Given the description of an element on the screen output the (x, y) to click on. 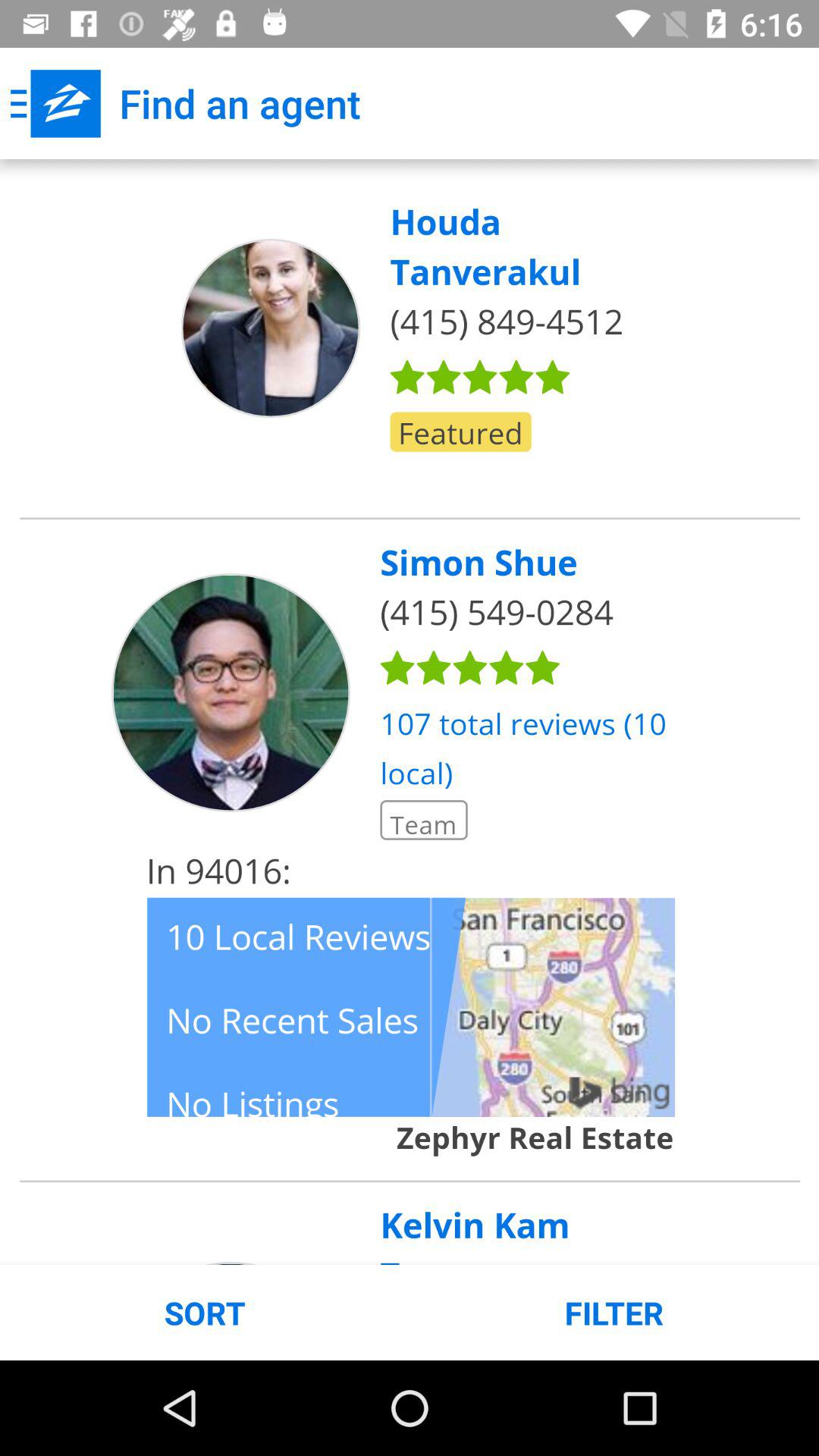
filter option (409, 711)
